Given the description of an element on the screen output the (x, y) to click on. 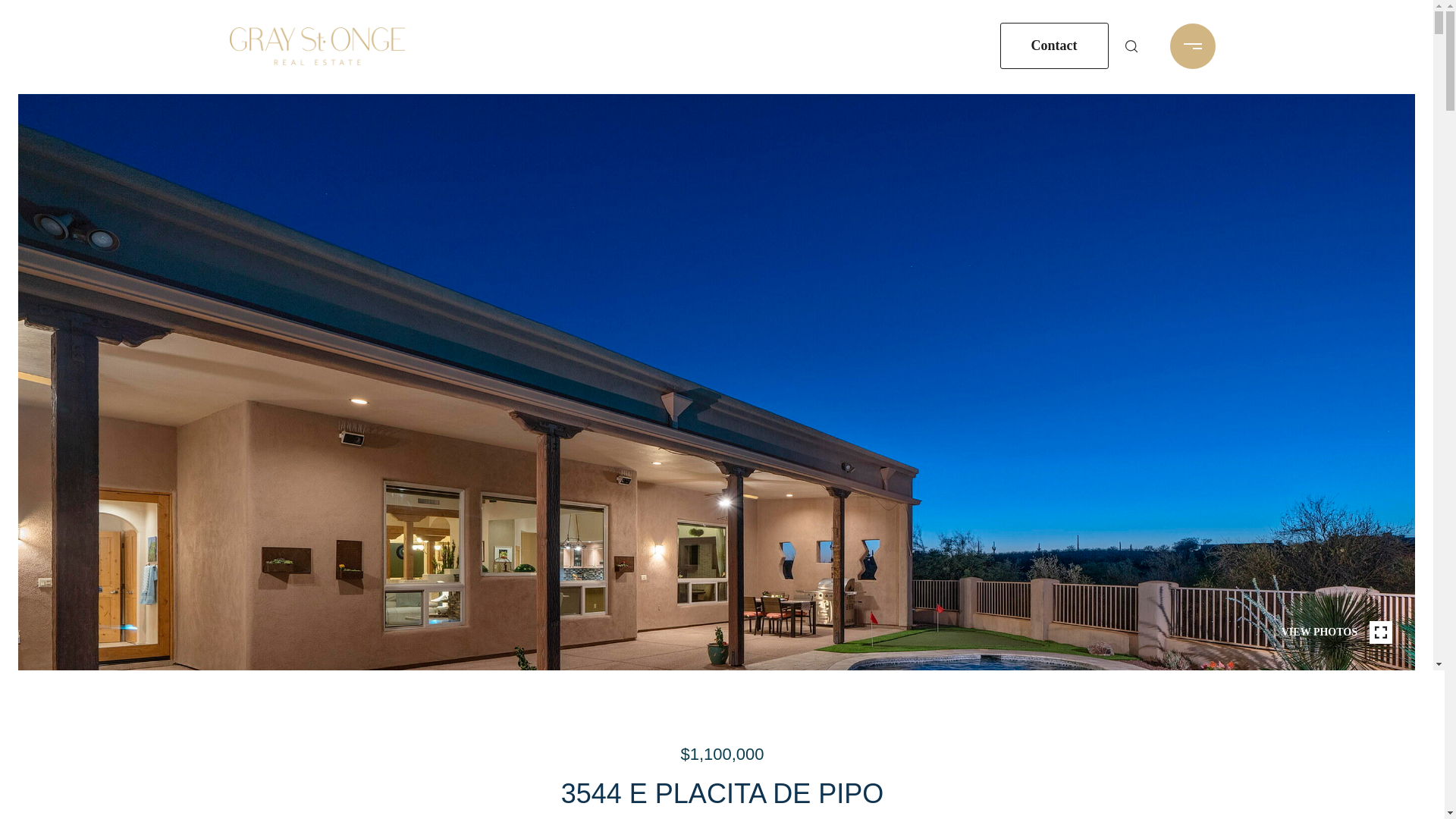
Contact (1053, 45)
